Given the description of an element on the screen output the (x, y) to click on. 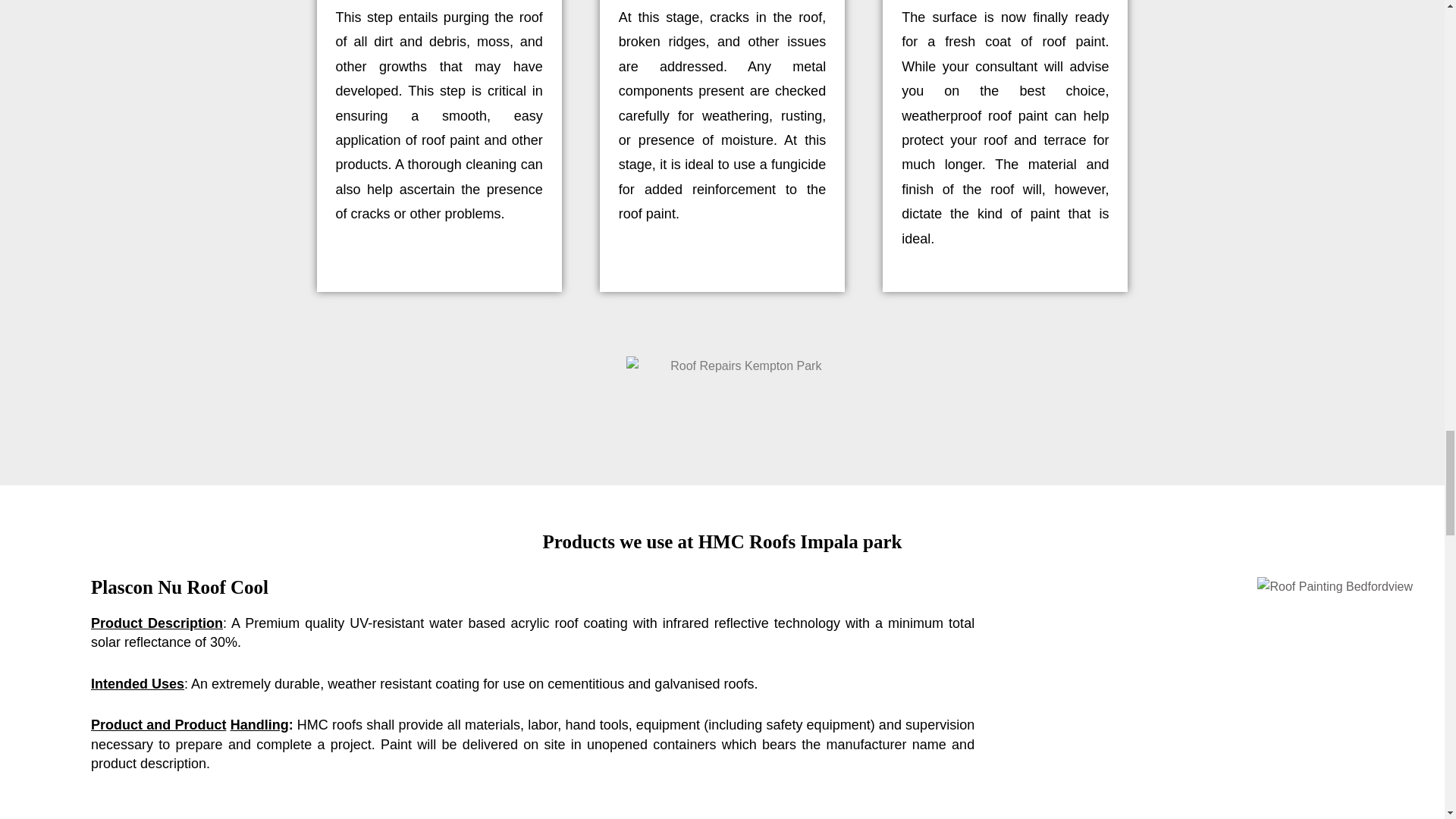
Roof Painting Bedfordview (1334, 587)
